Given the description of an element on the screen output the (x, y) to click on. 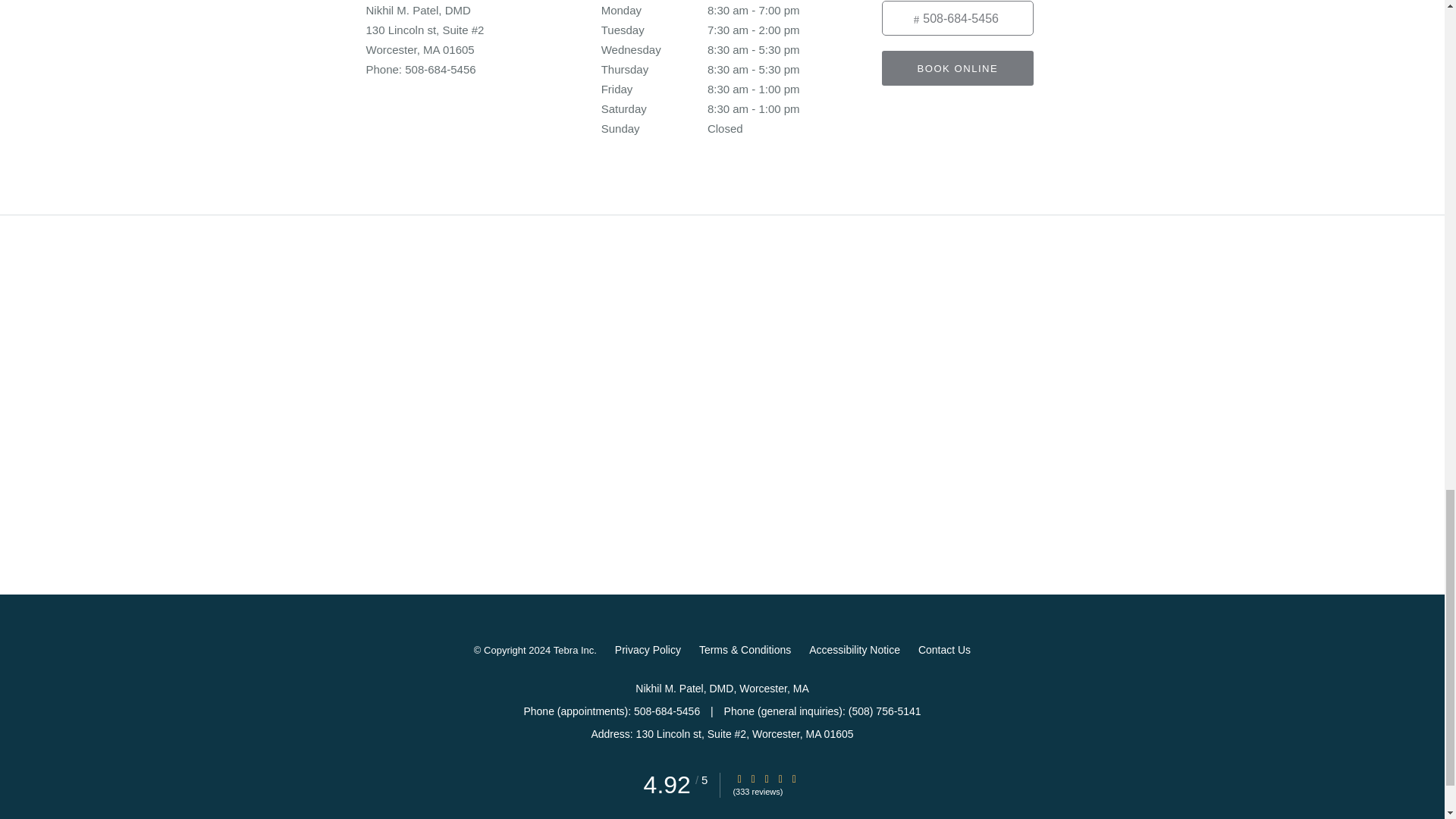
Star Rating (794, 778)
Star Rating (753, 778)
Star Rating (738, 778)
Star Rating (780, 778)
Star Rating (766, 778)
